Given the description of an element on the screen output the (x, y) to click on. 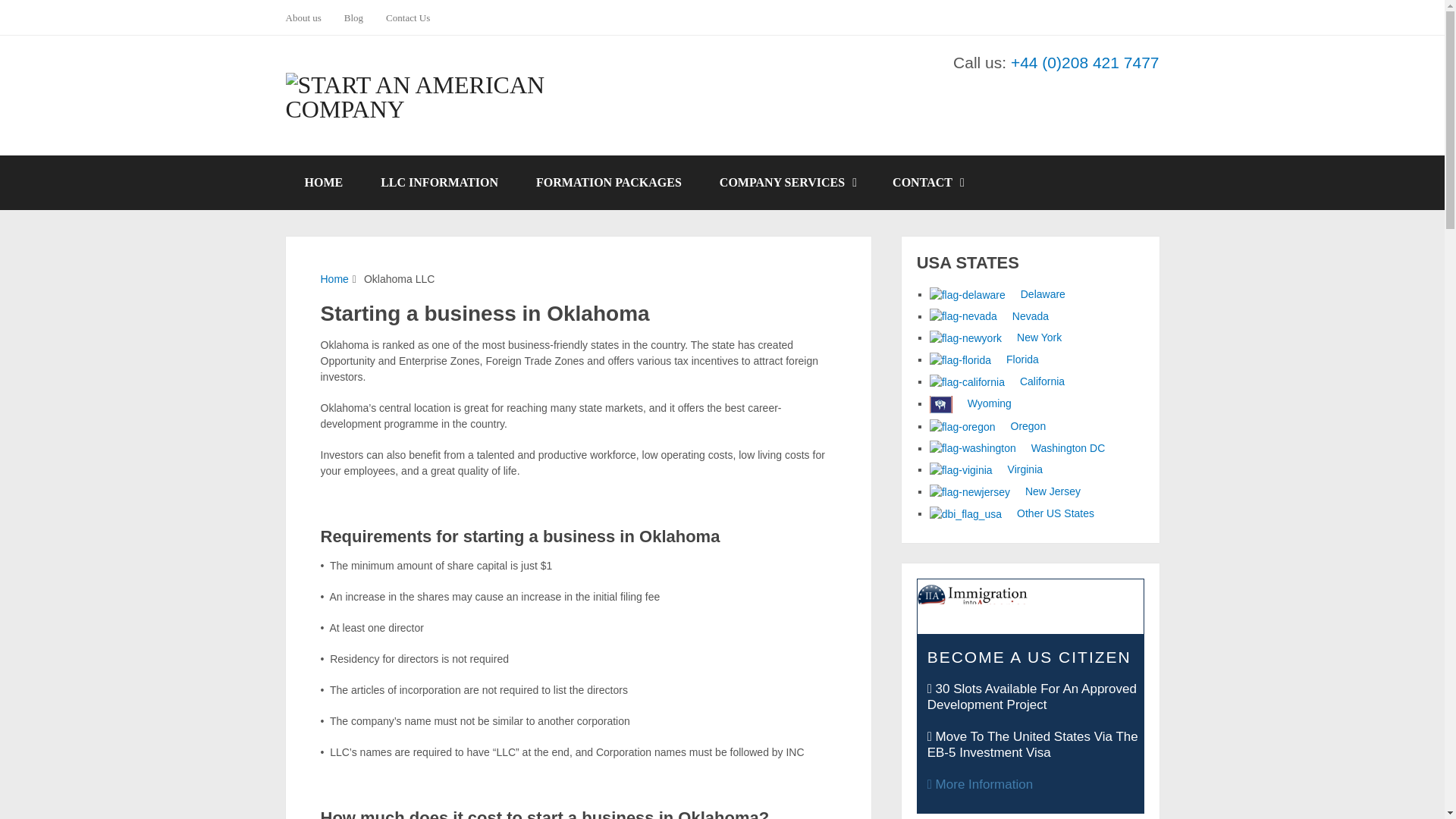
New York (996, 337)
Nevada (989, 316)
New Jersey (1005, 491)
Blog (353, 17)
Washington DC (1017, 448)
Virginia (986, 469)
Home (333, 278)
Wyoming (970, 403)
Contact Us (407, 17)
More Information (979, 784)
California (997, 381)
About us (308, 17)
LLC INFORMATION (438, 182)
Other US States (1012, 512)
HOME (323, 182)
